Given the description of an element on the screen output the (x, y) to click on. 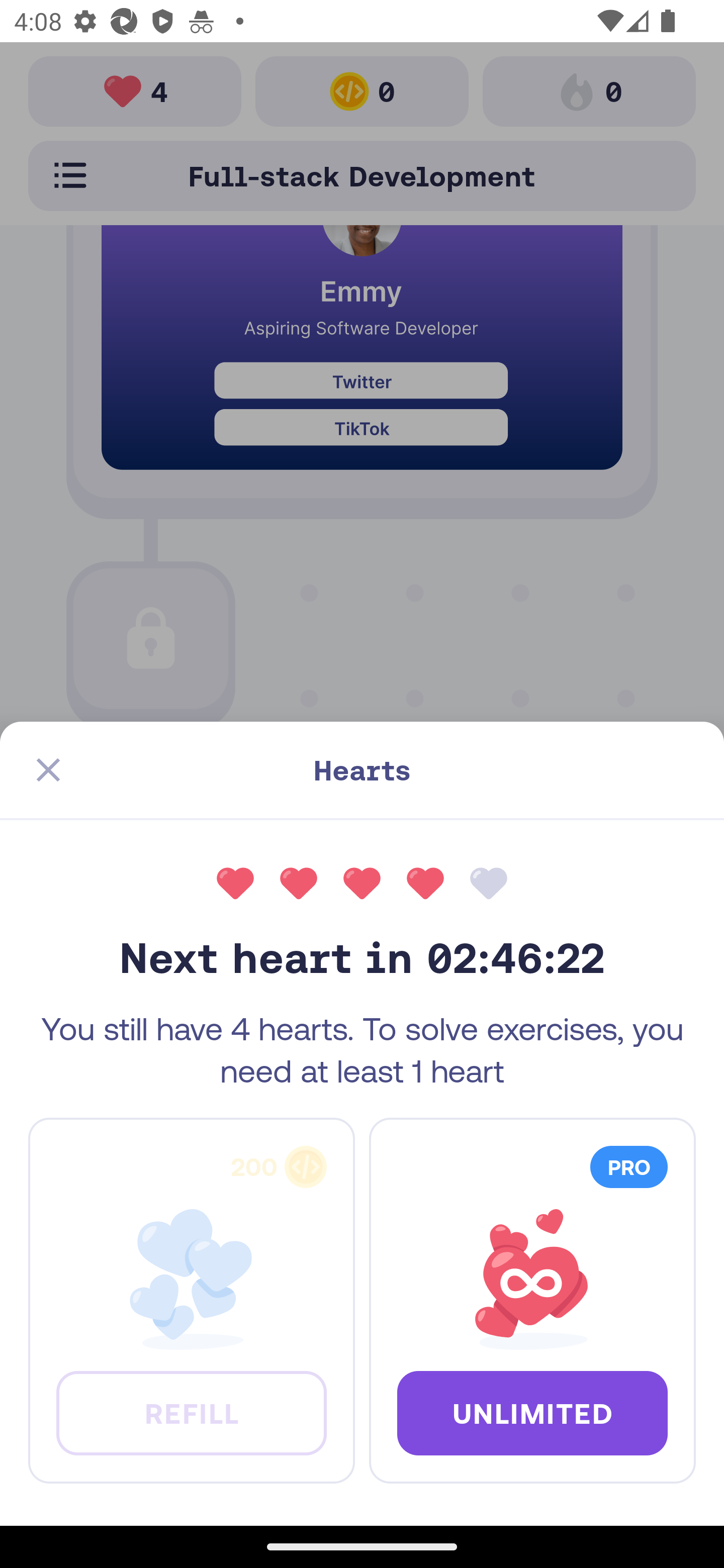
Close (47, 769)
REFILL (191, 1412)
UNLIMITED (532, 1412)
